Given the description of an element on the screen output the (x, y) to click on. 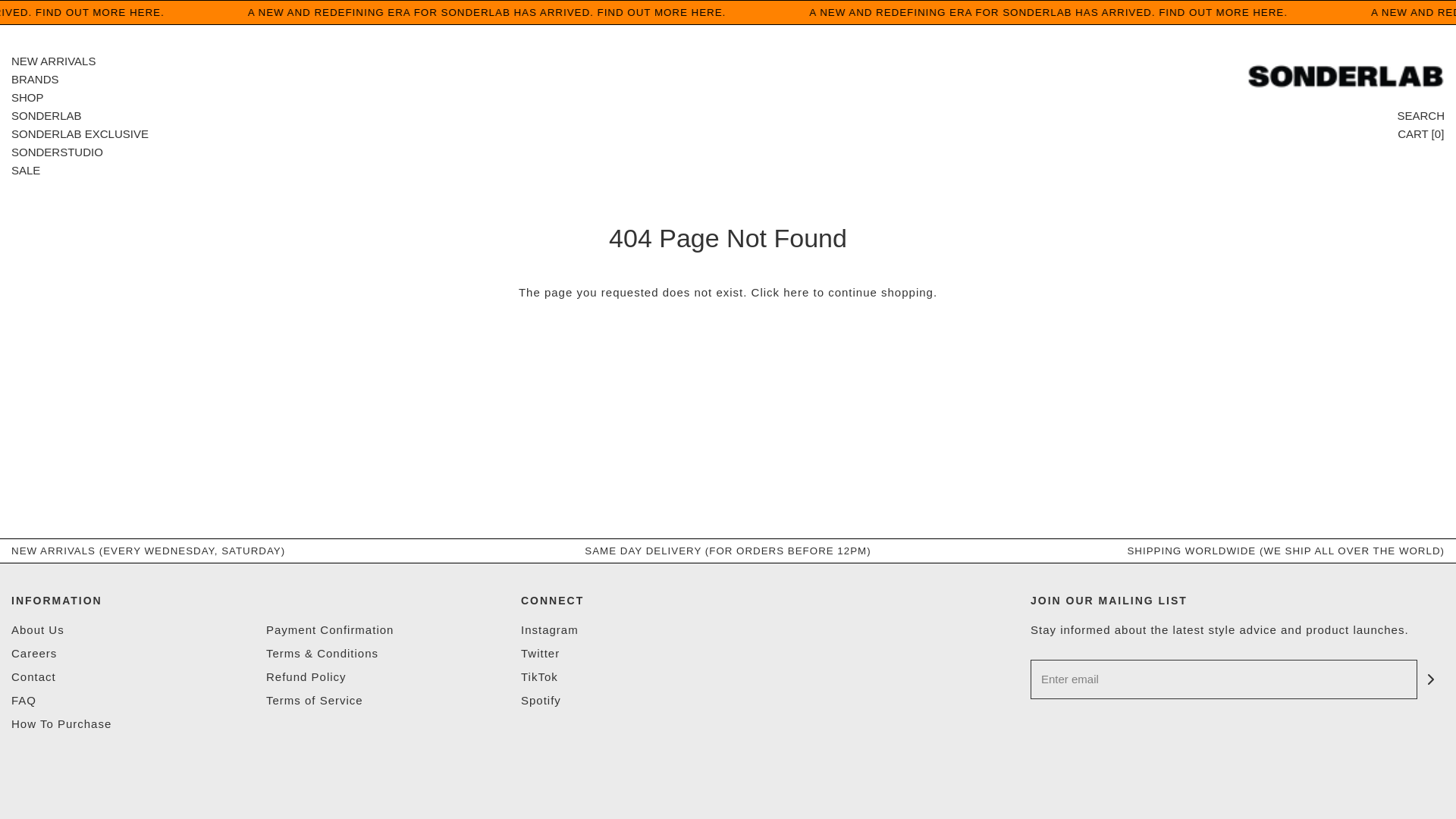
here (796, 291)
About Us (37, 632)
Cart (1420, 134)
BRANDS (35, 79)
SONDERLAB (46, 116)
SONDERSTUDIO (57, 152)
Careers (33, 656)
SEARCH (1420, 116)
How To Purchase (61, 726)
Search (1420, 116)
